Given the description of an element on the screen output the (x, y) to click on. 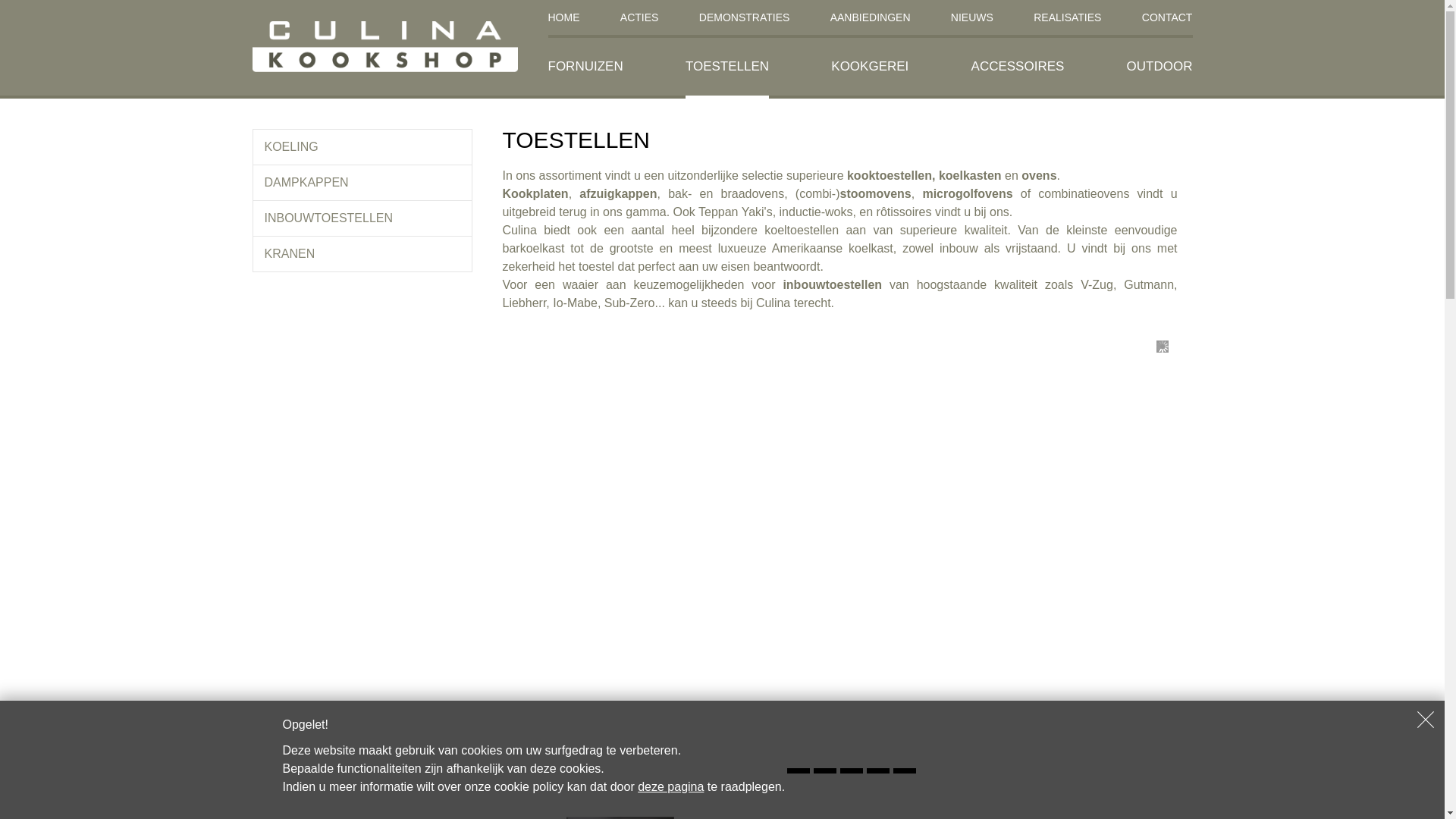
REALISATIES Element type: text (1067, 18)
TOESTELLEN Element type: text (726, 67)
Sluiten Element type: text (1425, 719)
DAMPKAPPEN Element type: text (362, 182)
KOOKGEREI Element type: text (869, 66)
CONTACT Element type: text (1167, 18)
ACCESSOIRES Element type: text (1017, 66)
DEMONSTRATIES Element type: text (744, 18)
FORNUIZEN Element type: text (584, 66)
KOELING Element type: text (362, 146)
AANBIEDINGEN Element type: text (870, 18)
INBOUWTOESTELLEN Element type: text (362, 217)
KRANEN Element type: text (362, 253)
OUTDOOR Element type: text (1159, 66)
HOME Element type: text (563, 18)
deze pagina Element type: text (670, 786)
ACTIES Element type: text (639, 18)
NIEUWS Element type: text (971, 18)
